Given the description of an element on the screen output the (x, y) to click on. 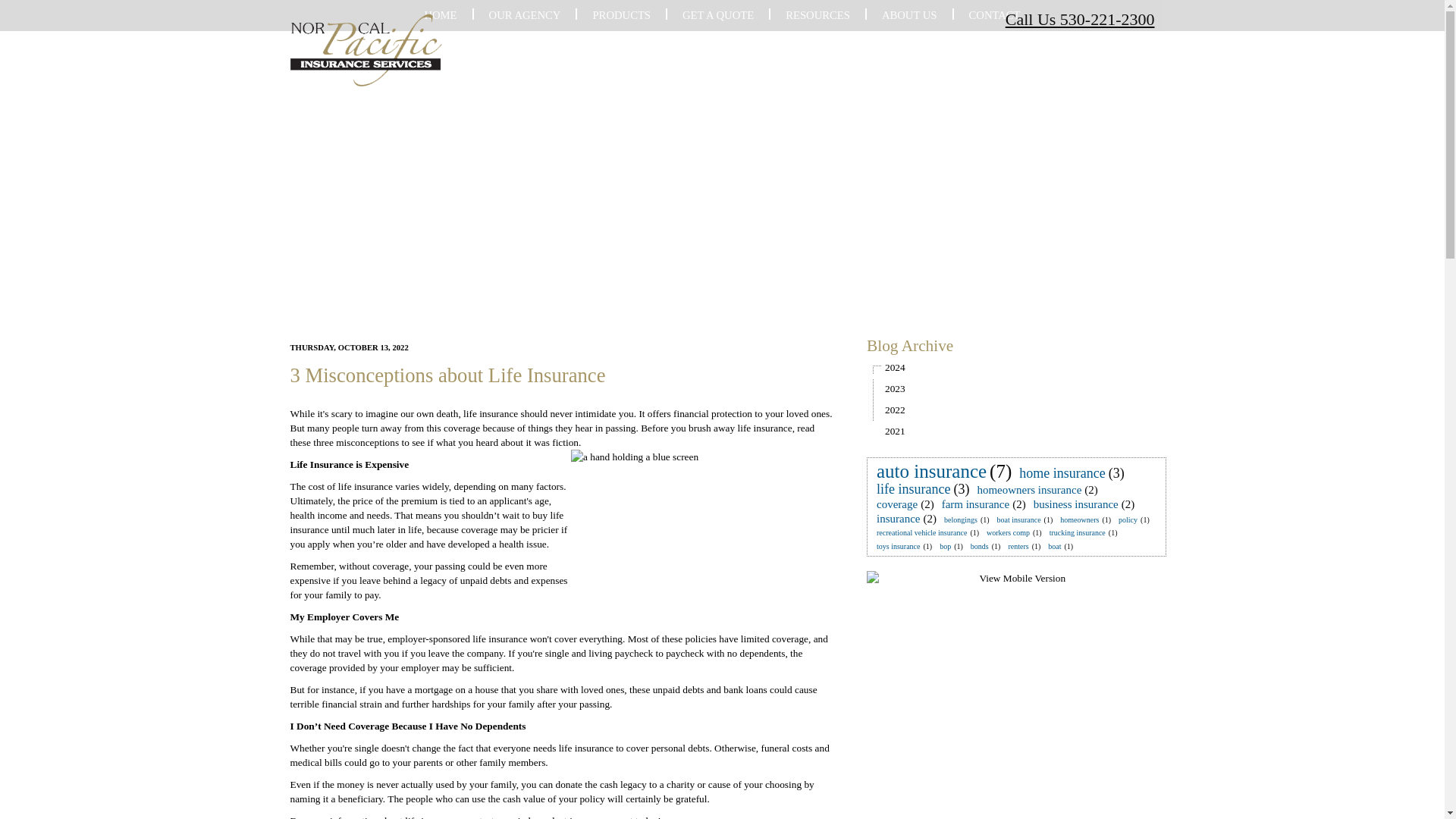
policy (1127, 519)
auto insurance (931, 471)
toys insurance (898, 546)
bonds (979, 546)
home insurance (1062, 473)
insurance (898, 518)
recreational vehicle insurance (921, 532)
OUR AGENCY (525, 15)
boat insurance (1018, 519)
life insurance (913, 488)
bop (944, 546)
coverage (896, 503)
belongings (959, 519)
homeowners (1079, 519)
trucking insurance (1077, 532)
